Given the description of an element on the screen output the (x, y) to click on. 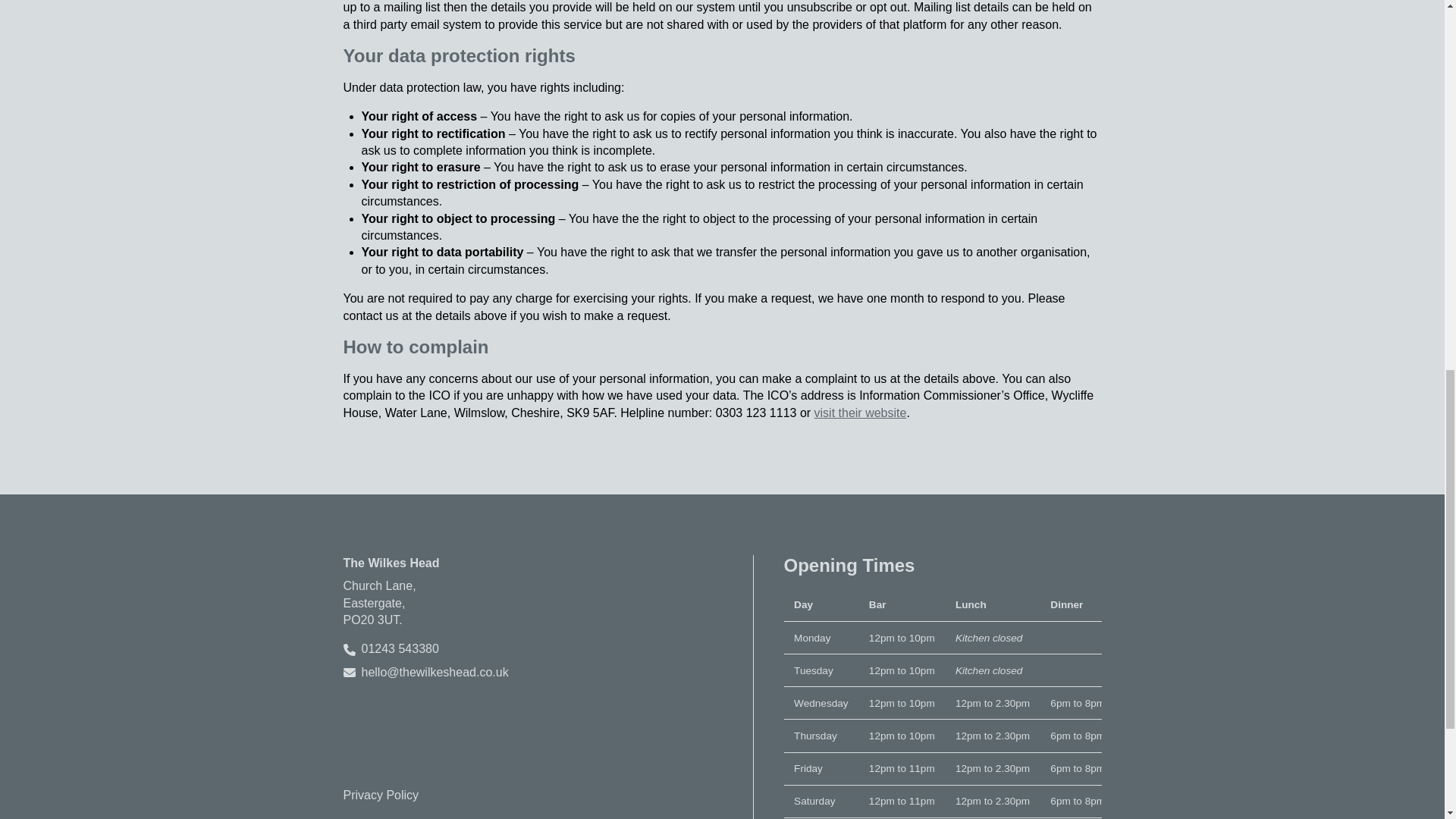
01243 543380 (399, 648)
visit their website (860, 412)
Cookies (364, 818)
Privacy Policy (380, 794)
